Given the description of an element on the screen output the (x, y) to click on. 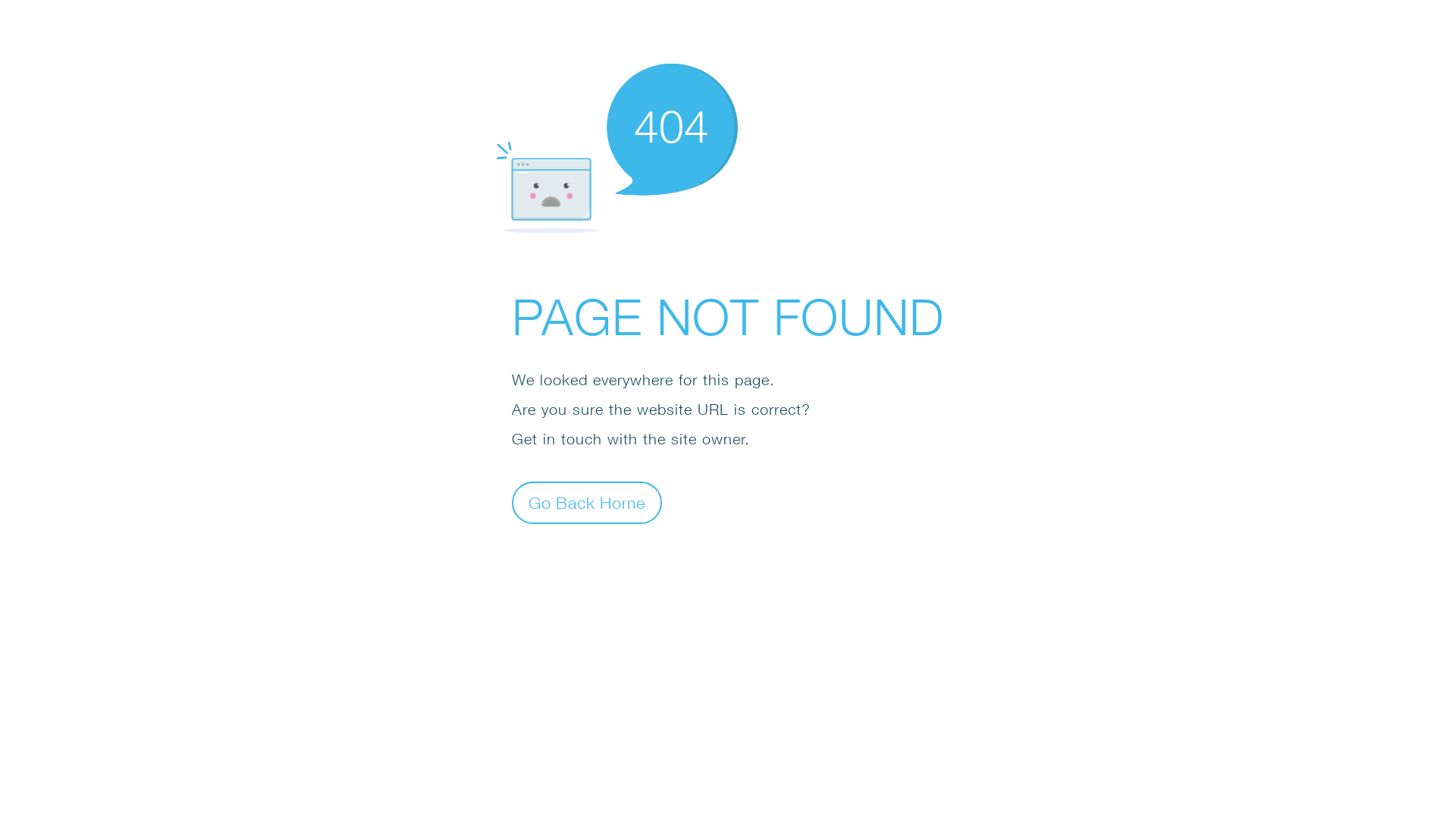
Go Back Home Element type: text (586, 502)
